Given the description of an element on the screen output the (x, y) to click on. 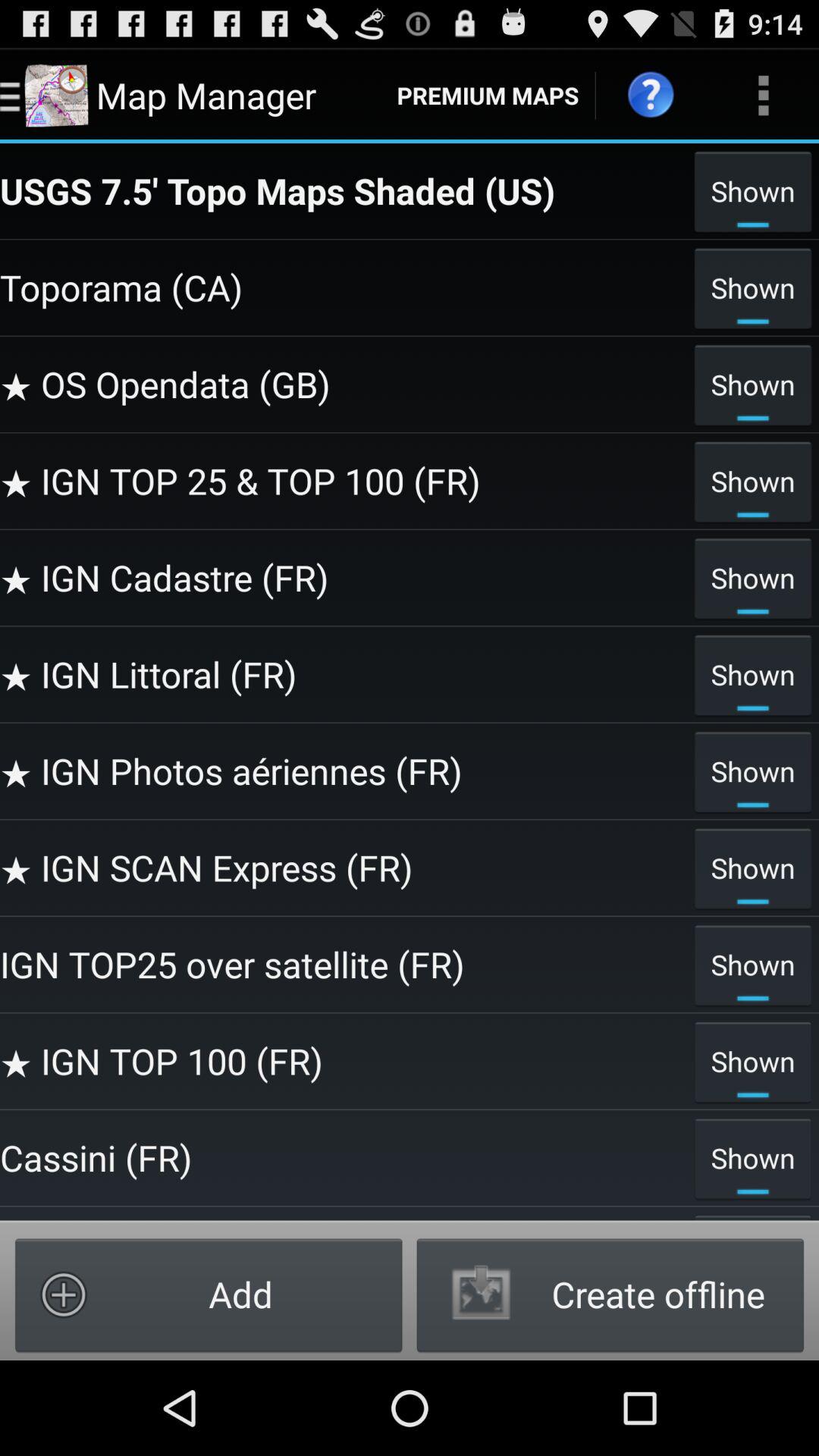
select icon next to the add item (610, 1294)
